Given the description of an element on the screen output the (x, y) to click on. 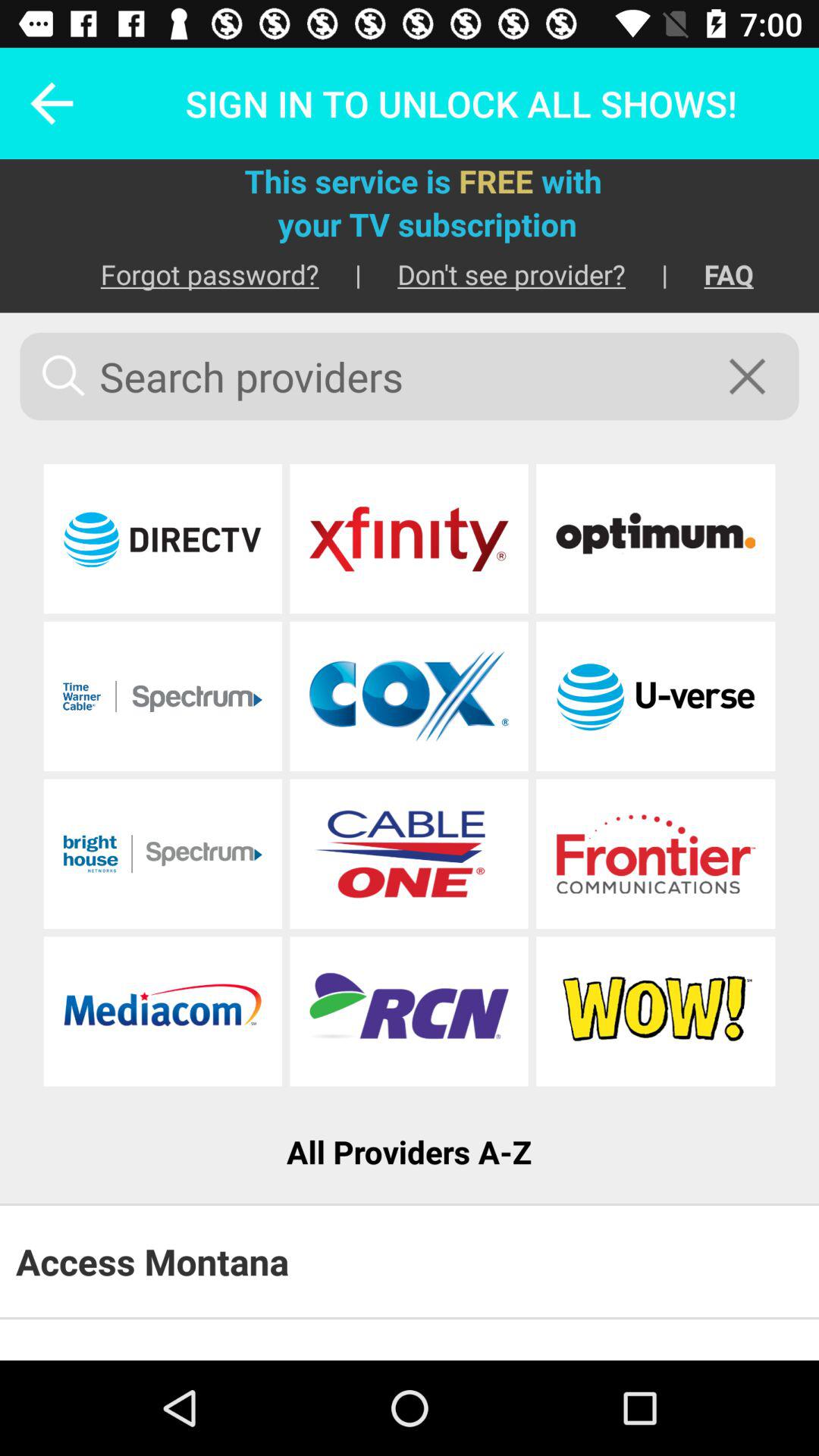
tap the item next to | (710, 273)
